Given the description of an element on the screen output the (x, y) to click on. 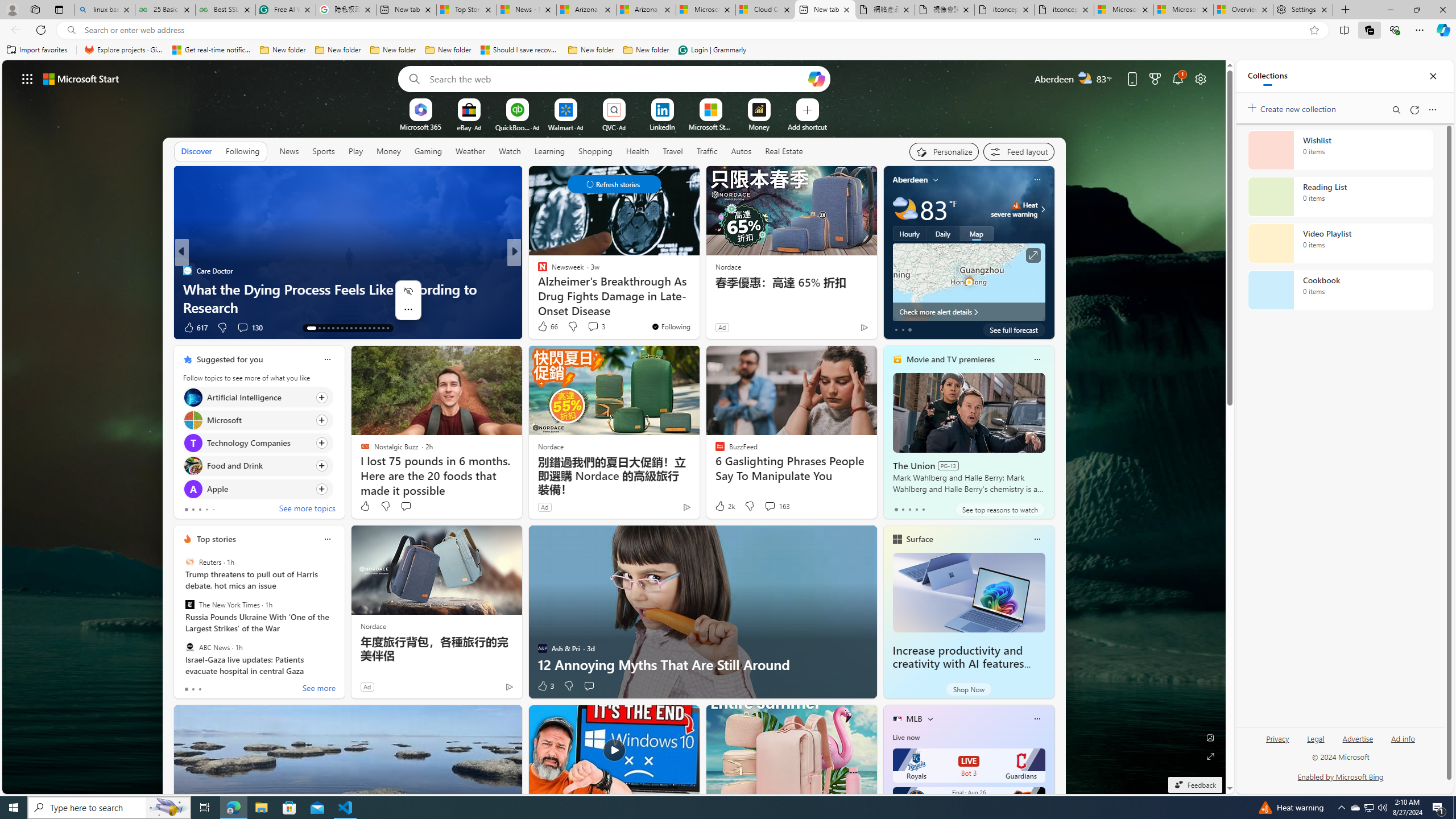
More actions (408, 309)
Feed settings (1018, 151)
tab-0 (185, 689)
Heat - Severe (1015, 204)
ABC News (189, 646)
Real Estate (783, 151)
Reading List collection, 0 items (1339, 196)
Click to follow topic Artificial Intelligence (257, 397)
More interests (930, 718)
15 Cool Life Facts You Won't Learn in School (697, 307)
